Given the description of an element on the screen output the (x, y) to click on. 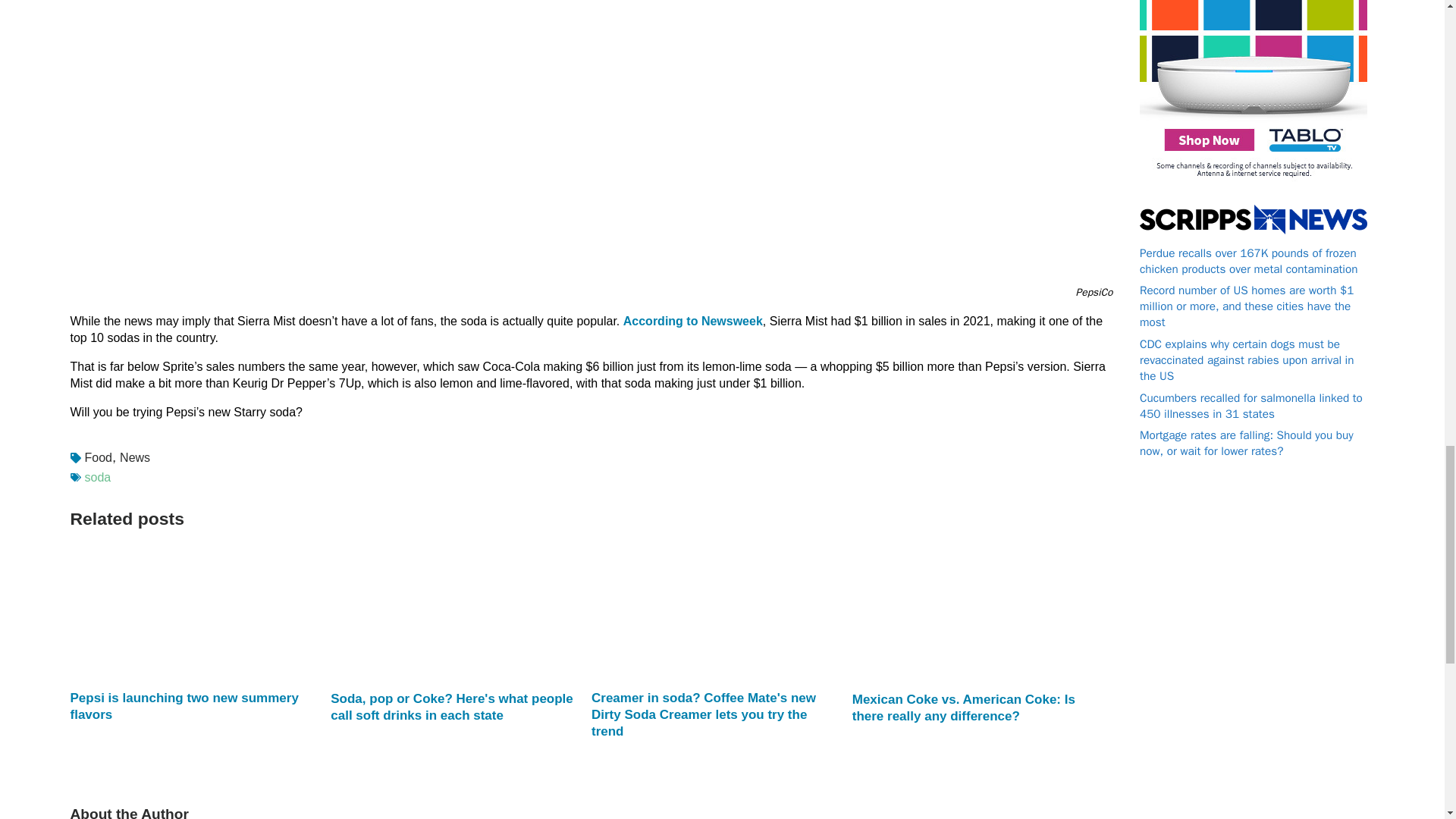
According to Newsweek (692, 320)
PepsiCo (1094, 291)
Food (96, 457)
Pepsi is launching two new summery flavors (192, 706)
News (132, 457)
soda (98, 477)
